Given the description of an element on the screen output the (x, y) to click on. 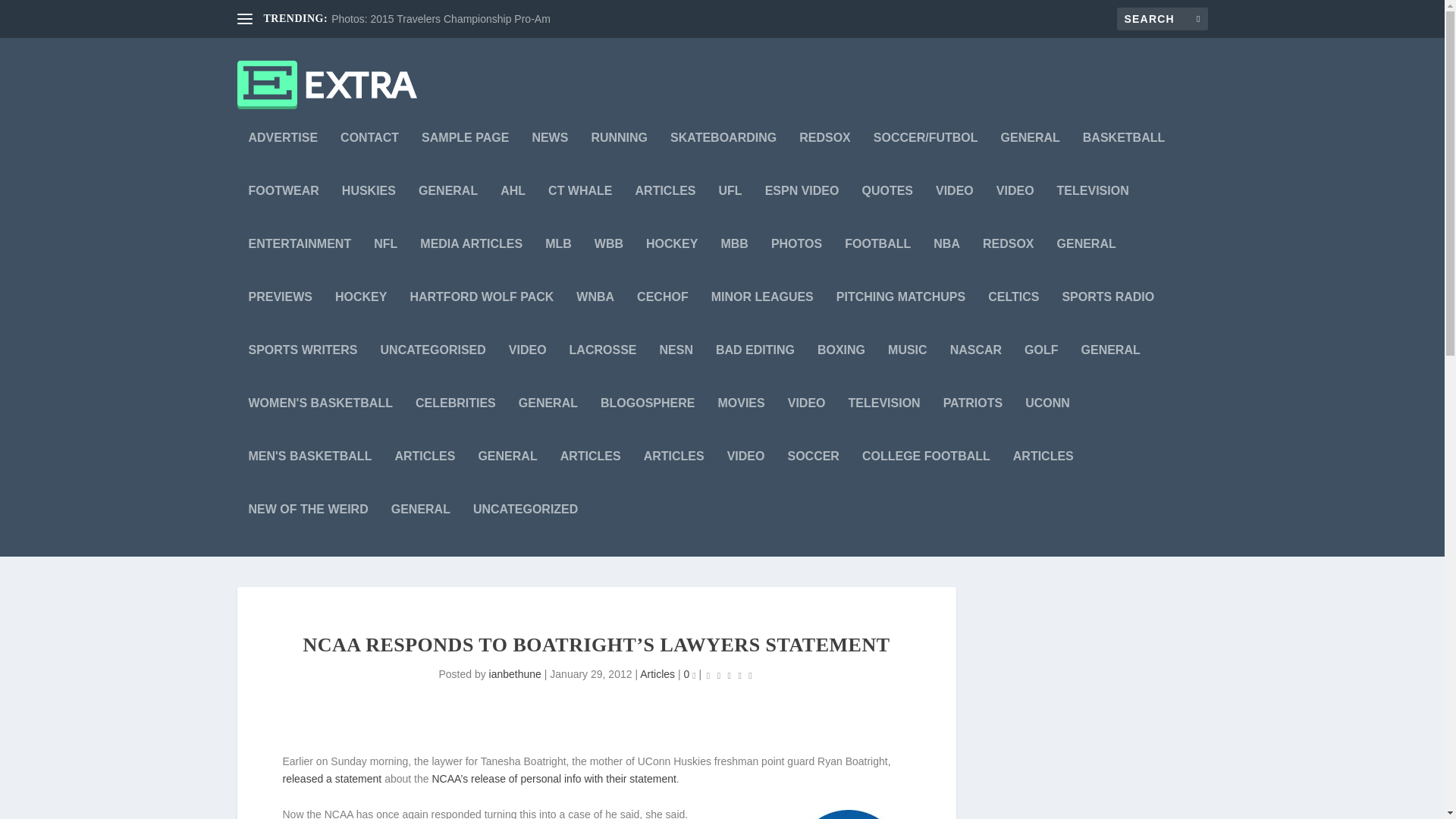
CONTACT (369, 158)
GENERAL (448, 211)
SKATEBOARDING (722, 158)
TELEVISION (1093, 211)
FOOTWEAR (283, 211)
ADVERTISE (283, 158)
BASKETBALL (1123, 158)
GENERAL (1030, 158)
RUNNING (619, 158)
Photos: 2015 Travelers Championship Pro-Am (440, 19)
